Given the description of an element on the screen output the (x, y) to click on. 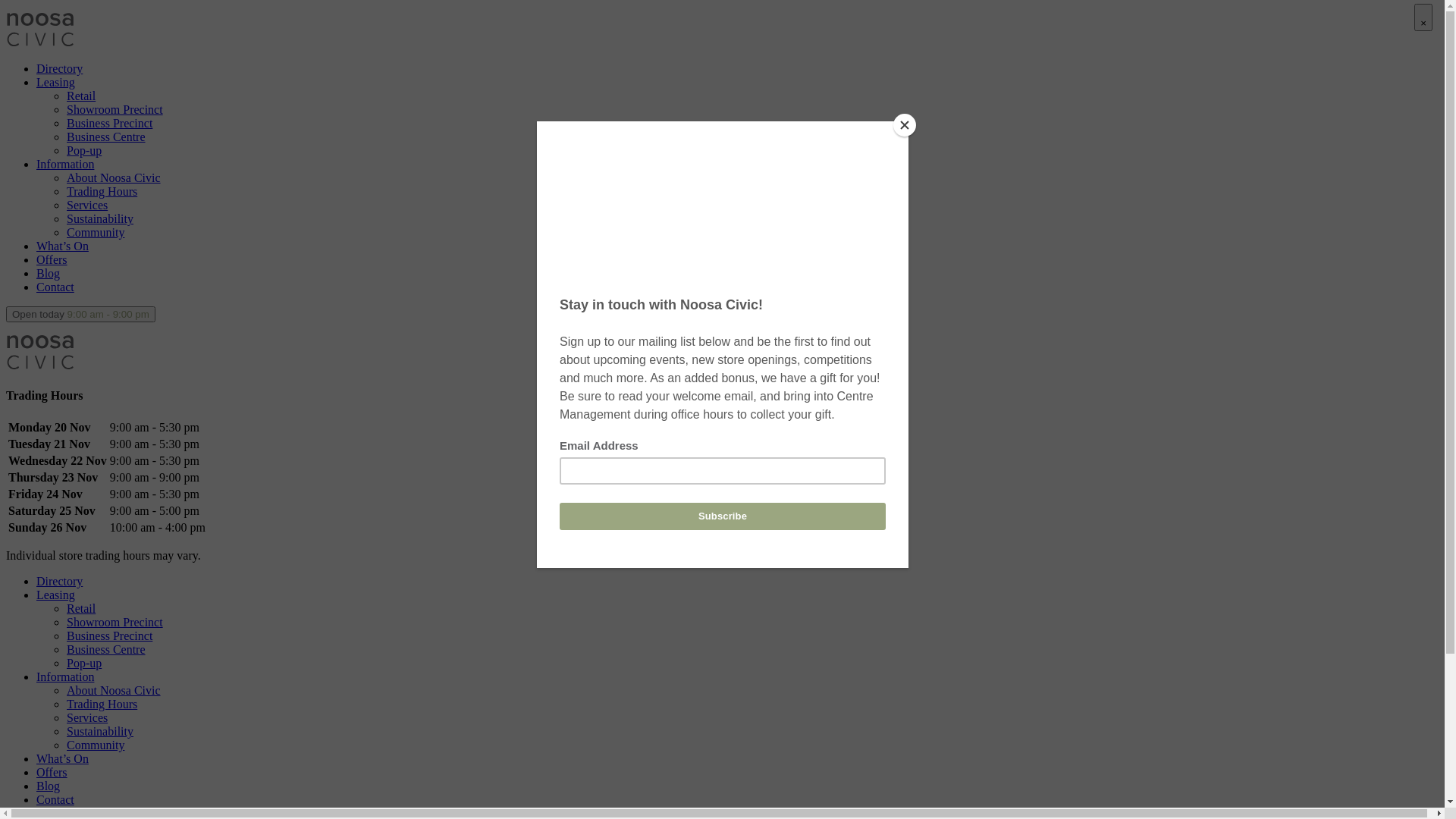
Blog Element type: text (47, 785)
Sustainability Element type: text (99, 730)
Services Element type: text (86, 204)
Business Centre Element type: text (105, 649)
Sustainability Element type: text (99, 218)
Pop-up Element type: text (83, 150)
Trading Hours Element type: text (101, 191)
Information Element type: text (65, 163)
Retail Element type: text (80, 608)
Offers Element type: text (51, 771)
Leasing Element type: text (55, 81)
Retail Element type: text (80, 95)
Information Element type: text (65, 676)
About Noosa Civic Element type: text (113, 690)
Services Element type: text (86, 717)
Trading Hours Element type: text (101, 703)
Open today 9:00 am - 9:00 pm Element type: text (80, 314)
Blog Element type: text (47, 272)
Community Element type: text (95, 231)
Directory Element type: text (59, 68)
Directory Element type: text (59, 580)
Business Precinct Element type: text (109, 122)
Showroom Precinct Element type: text (114, 109)
Pop-up Element type: text (83, 662)
About Noosa Civic Element type: text (113, 177)
Contact Element type: text (55, 799)
Business Centre Element type: text (105, 136)
Offers Element type: text (51, 259)
Contact Element type: text (55, 286)
Business Precinct Element type: text (109, 635)
Leasing Element type: text (55, 594)
Community Element type: text (95, 744)
Showroom Precinct Element type: text (114, 621)
